Given the description of an element on the screen output the (x, y) to click on. 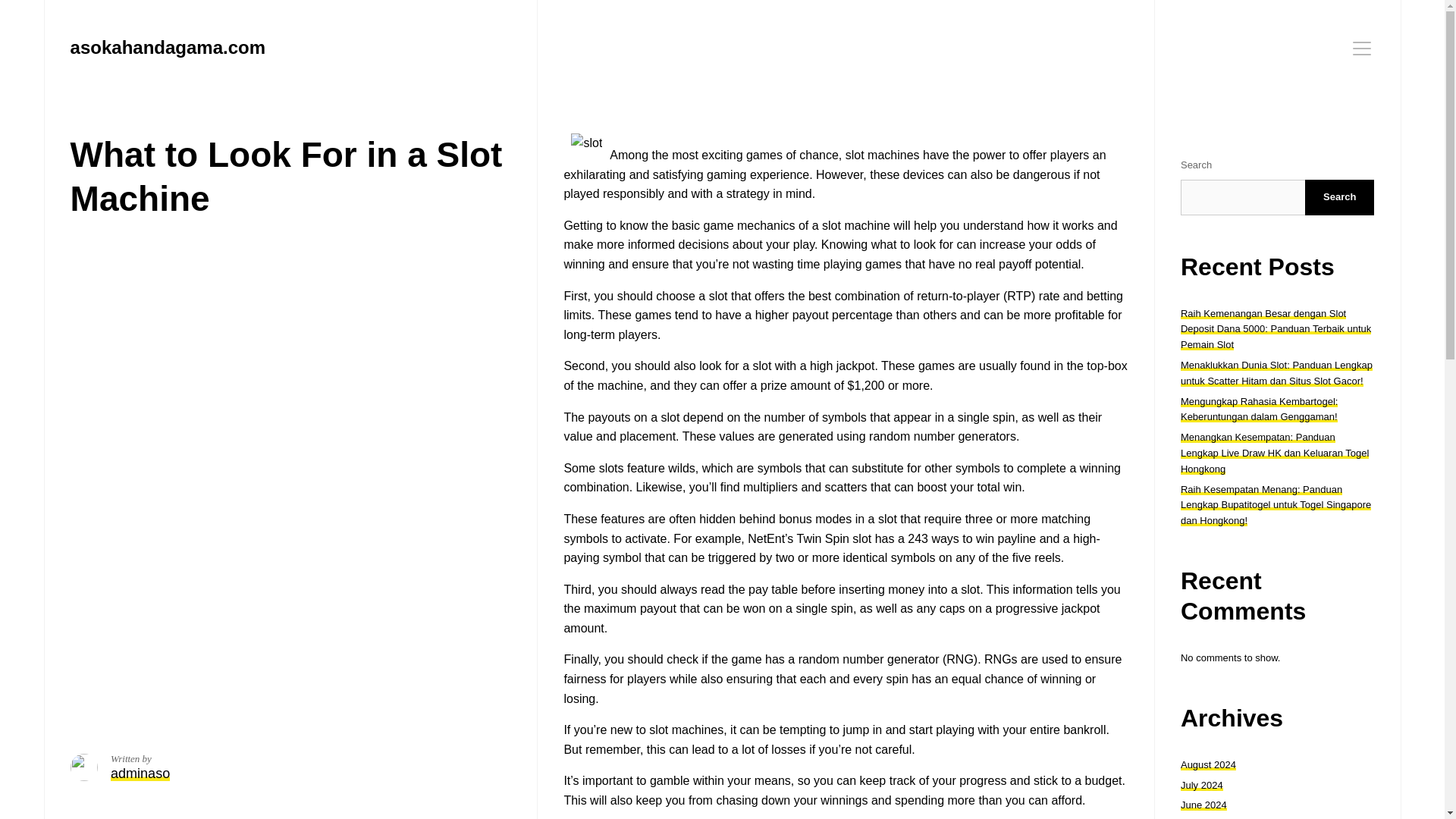
adminaso (140, 773)
Search (1339, 197)
July 2024 (1201, 785)
asokahandagama.com (166, 47)
Menu (1361, 48)
August 2024 (1208, 764)
June 2024 (1203, 804)
